Given the description of an element on the screen output the (x, y) to click on. 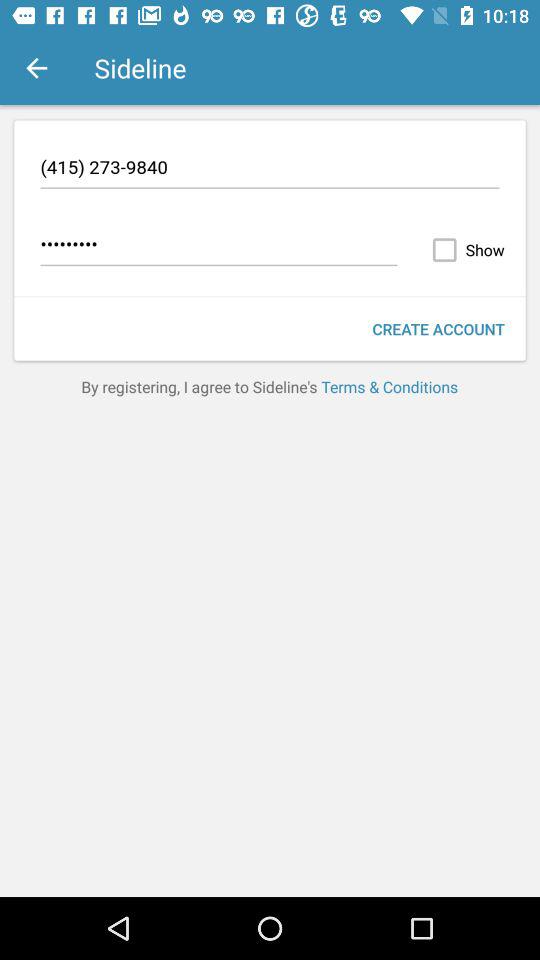
open the by registering i icon (269, 386)
